Given the description of an element on the screen output the (x, y) to click on. 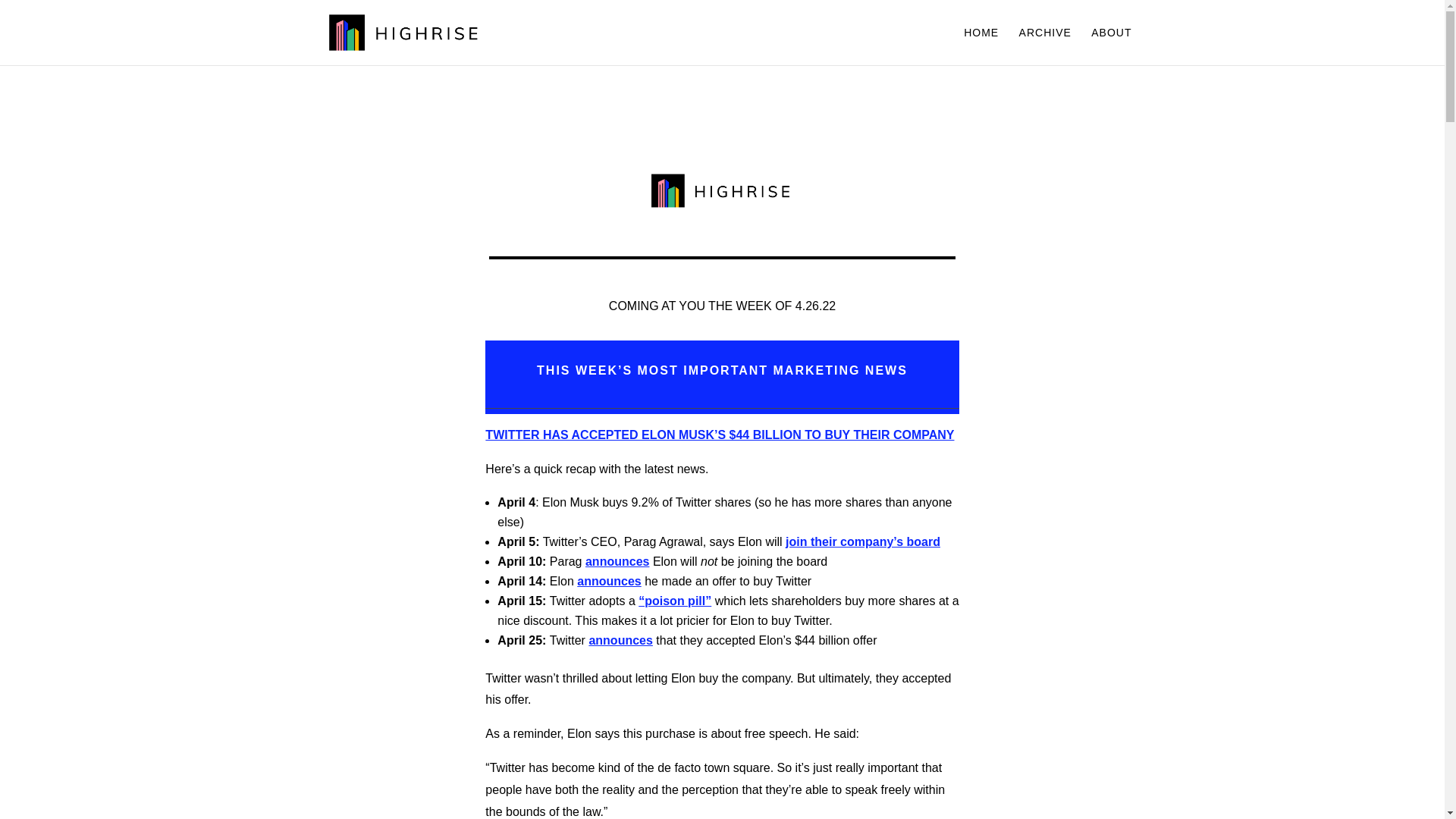
ARCHIVE (1045, 46)
Highrise-Logo-lrg (722, 190)
announces (620, 640)
ABOUT (1110, 46)
announces (617, 561)
HOME (980, 46)
announces (608, 581)
